Given the description of an element on the screen output the (x, y) to click on. 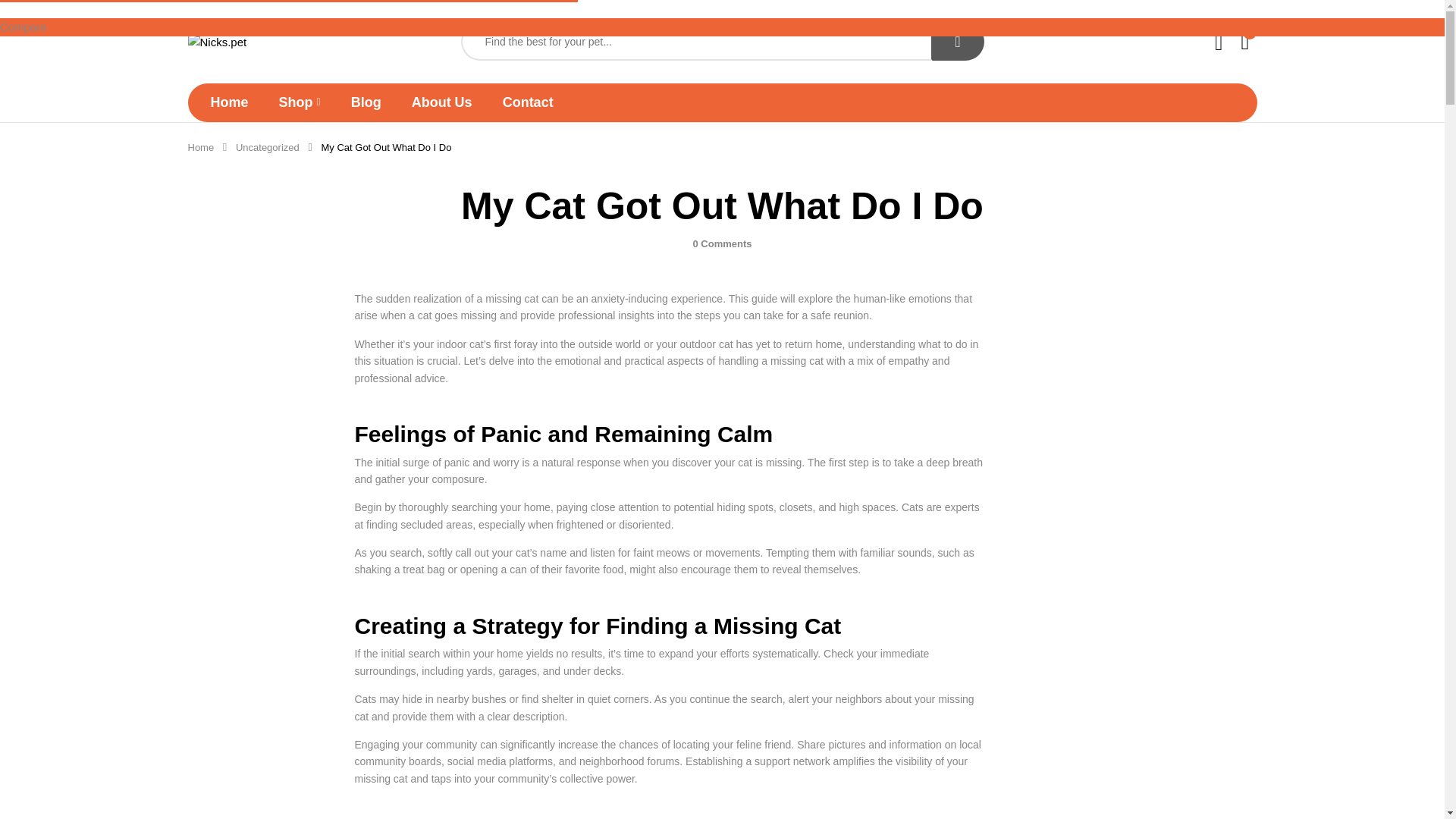
0 Comments (722, 243)
Home (200, 147)
Uncategorized (267, 147)
search (957, 41)
About Us (441, 102)
Shop (299, 102)
Home (229, 102)
Contact (527, 102)
Blog (365, 102)
0 (1245, 41)
